Given the description of an element on the screen output the (x, y) to click on. 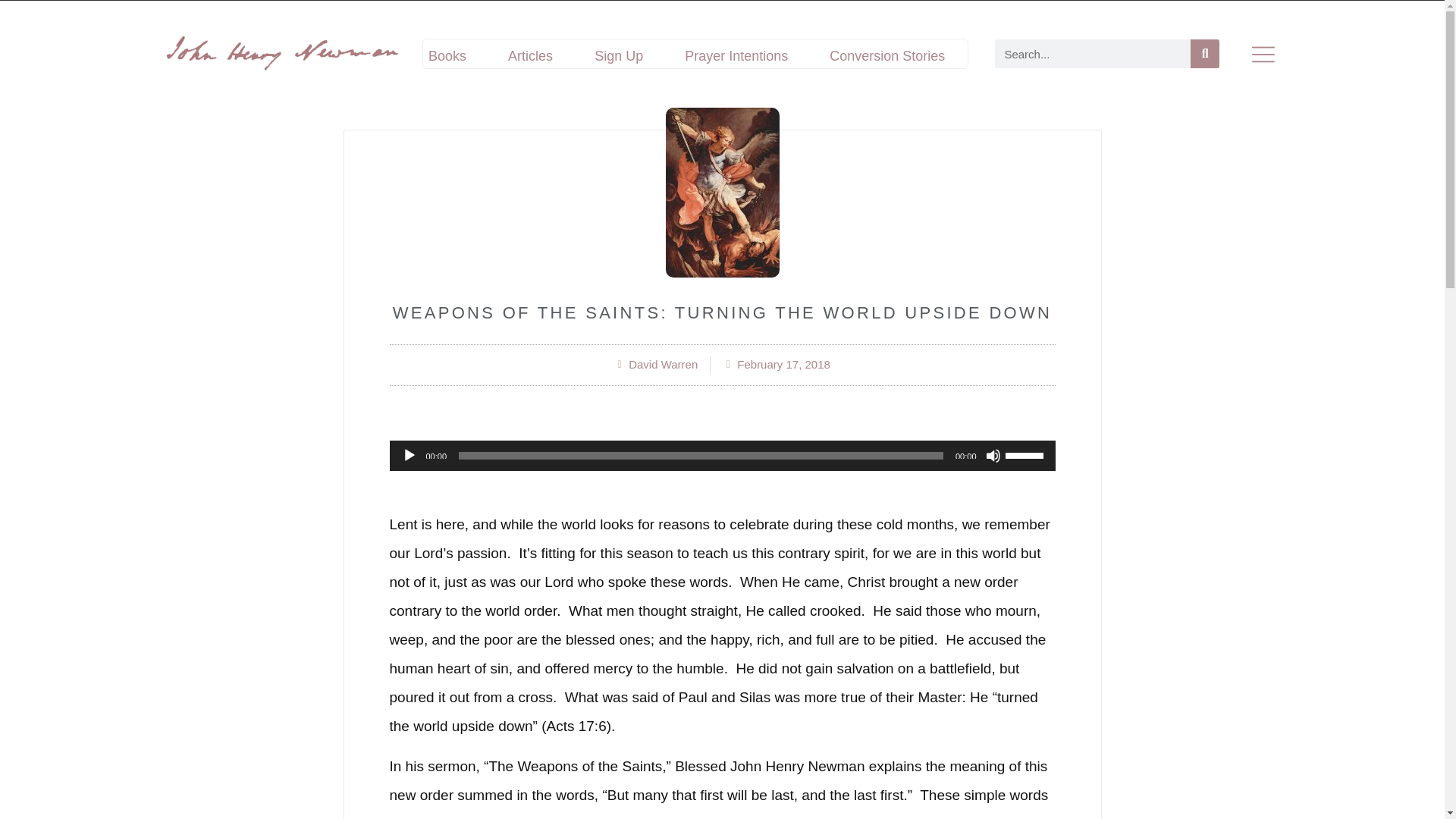
Website Contributors (797, 76)
icon (1263, 53)
Sign Up (618, 55)
Articles (529, 55)
Conversion Stories (887, 55)
Play (408, 455)
Books (447, 55)
Mute (993, 455)
About Newman (492, 76)
February 17, 2018 (775, 364)
Prayer Intentions (736, 55)
David Warren (655, 364)
Videos (924, 76)
